Given the description of an element on the screen output the (x, y) to click on. 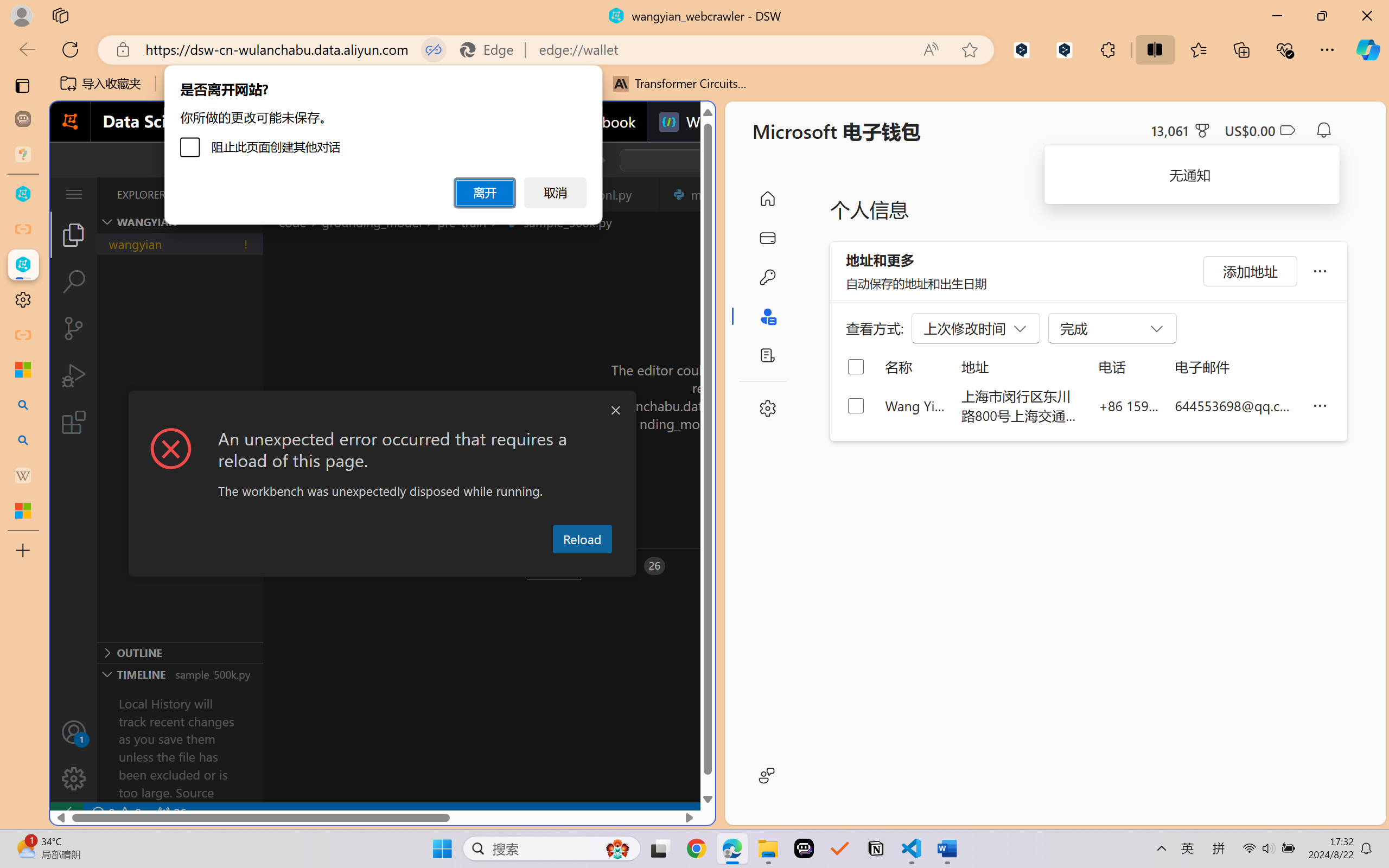
644553698@qq.com (1235, 405)
Reload (581, 538)
+86 159 0032 4640 (1128, 405)
Microsoft Cashback - US$0.00 (1259, 129)
Class: ___1lmltc5 f1agt3bx f12qytpq (1286, 130)
Ports - 26 forwarded ports (632, 565)
Class: menubar compact overflow-menu-only (73, 194)
